Given the description of an element on the screen output the (x, y) to click on. 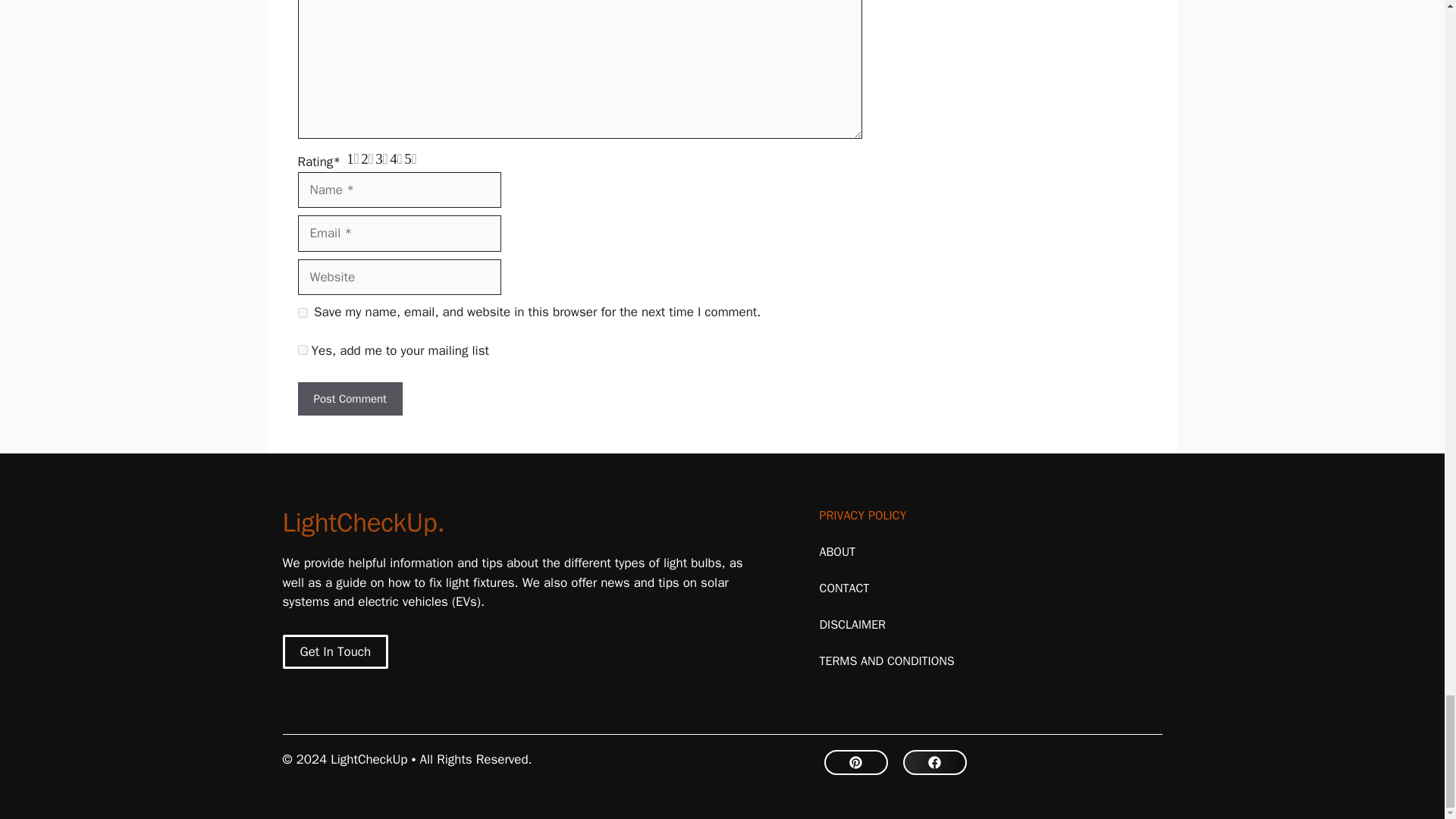
Post Comment (349, 399)
yes (302, 312)
1 (302, 349)
